Given the description of an element on the screen output the (x, y) to click on. 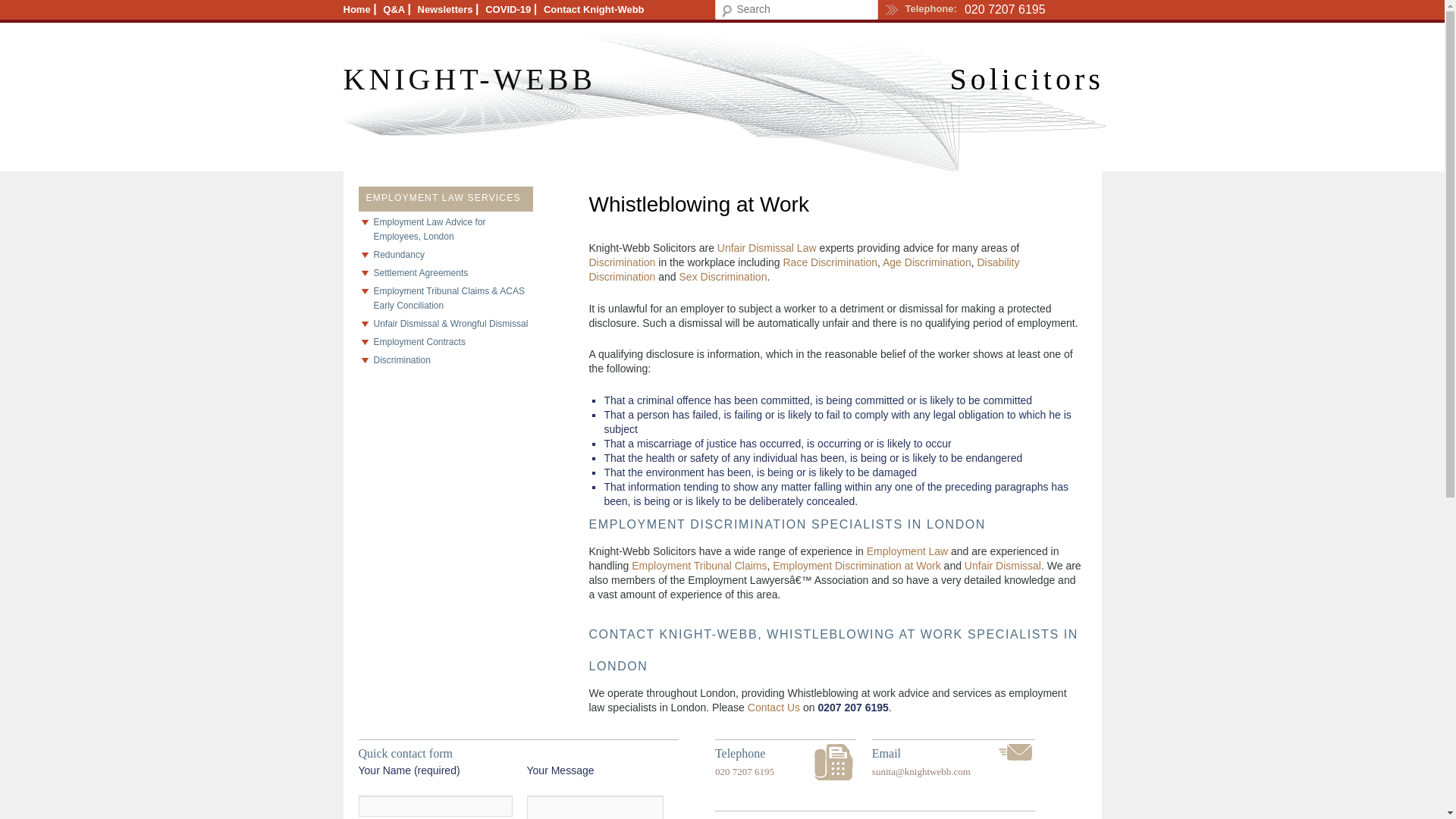
Employment Tribunal Claims (699, 565)
Employment Discrimination at Work (856, 565)
Settlement Agreements (452, 272)
Solicitors (1026, 79)
Disability Discrimination (803, 269)
Search (19, 7)
Home (355, 9)
Redundancy (452, 254)
Contact Knight-Webb (594, 9)
Unfair Dismissal (1002, 565)
Newsletters (443, 9)
Employment Law Advice for Employees, London (452, 229)
COVID-19 (507, 9)
KNIGHT-WEBB (468, 79)
Discrimination (452, 359)
